Given the description of an element on the screen output the (x, y) to click on. 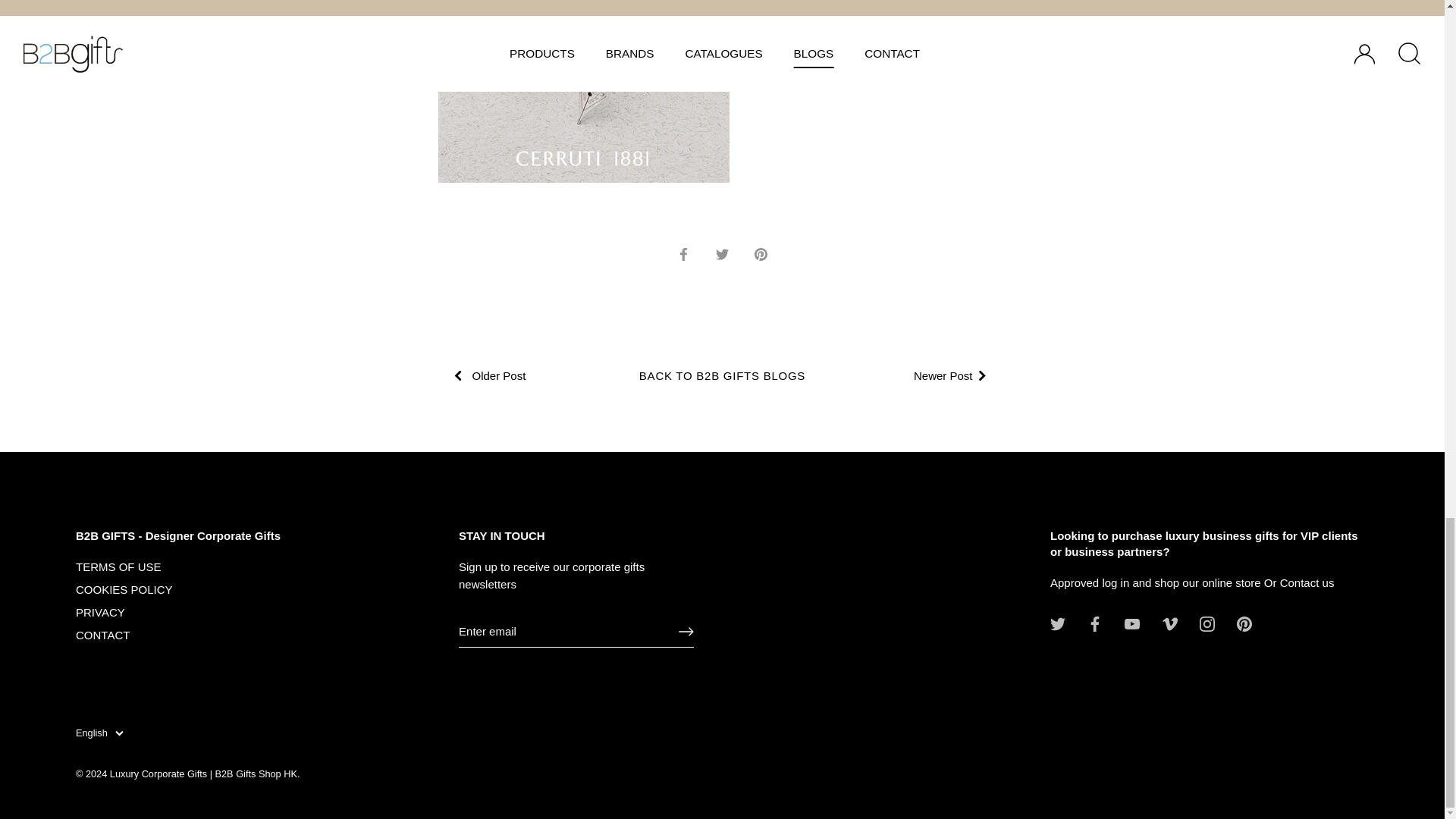
Pinterest (1244, 623)
Youtube (1132, 623)
RIGHT ARROW LONG (686, 631)
Vimeo (1169, 623)
Instagram (1206, 623)
Twitter (1057, 623)
